Given the description of an element on the screen output the (x, y) to click on. 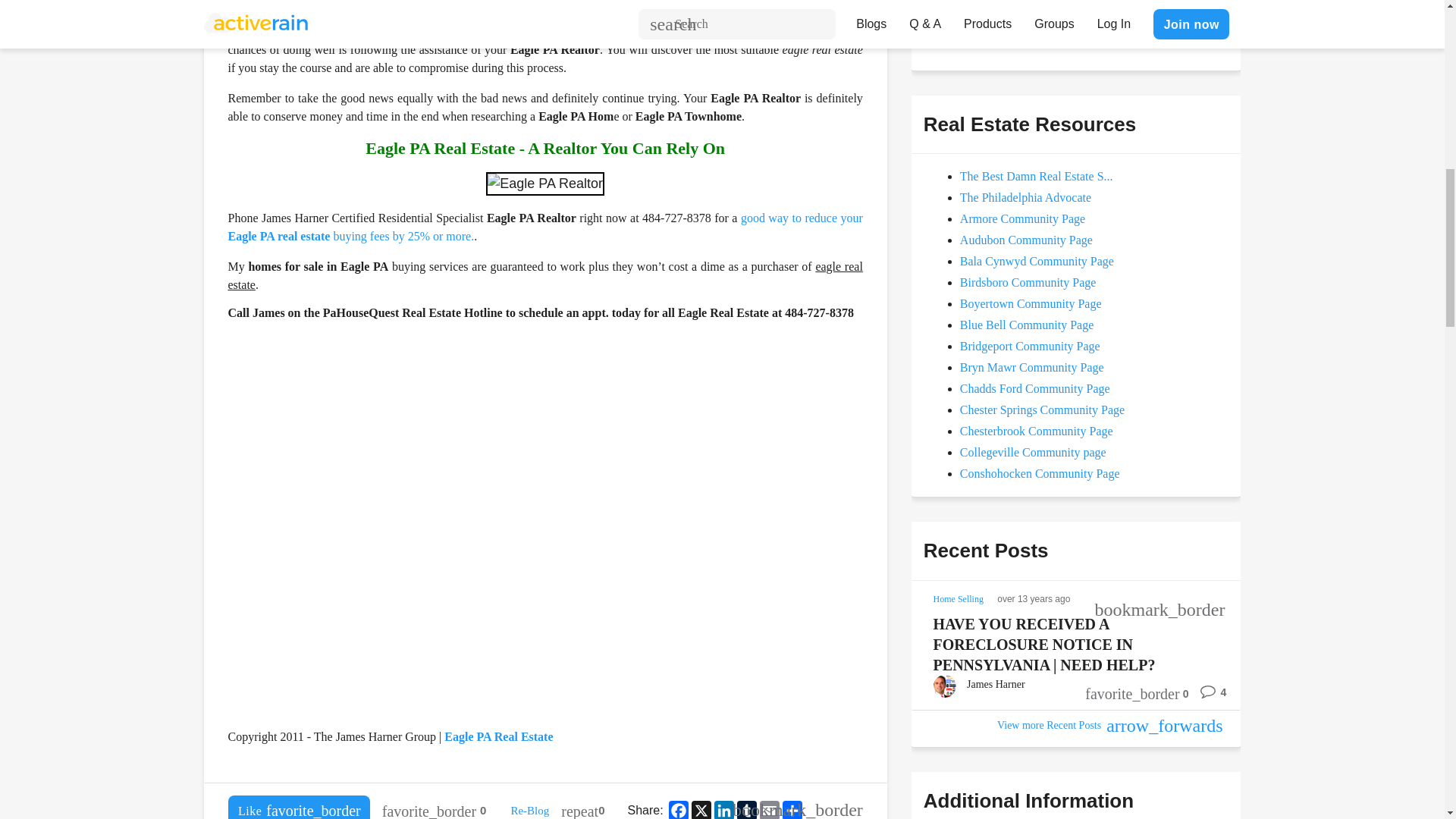
This entry hasn't been re-blogged (582, 807)
Email (769, 809)
Blue Bell Community Page (1026, 324)
Share (791, 809)
Facebook (678, 809)
Bridgeport Community Page (1029, 345)
Chadds Ford Community Page (1034, 388)
Boyertown Community Page (1030, 303)
Chester Springs Community Page (1041, 409)
Eagle PA Real Estate (498, 736)
Birdsboro Community Page (1027, 282)
Send Message (978, 30)
Bryn Mawr Community Page (1031, 367)
The Philadelphia Advocate (1024, 196)
LinkedIn (724, 809)
